Given the description of an element on the screen output the (x, y) to click on. 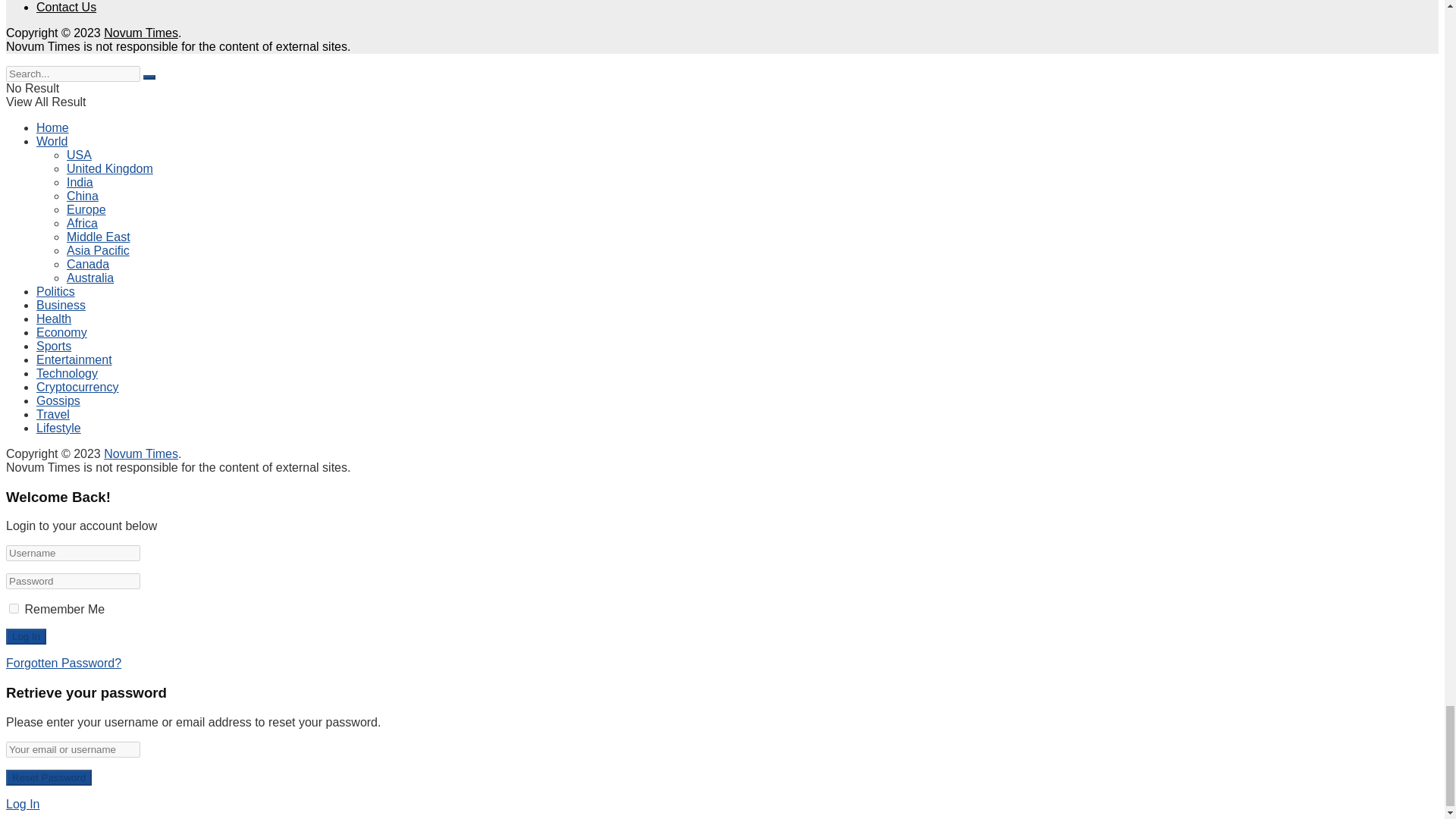
true (13, 608)
Log In (25, 636)
Reset Password (48, 777)
